Given the description of an element on the screen output the (x, y) to click on. 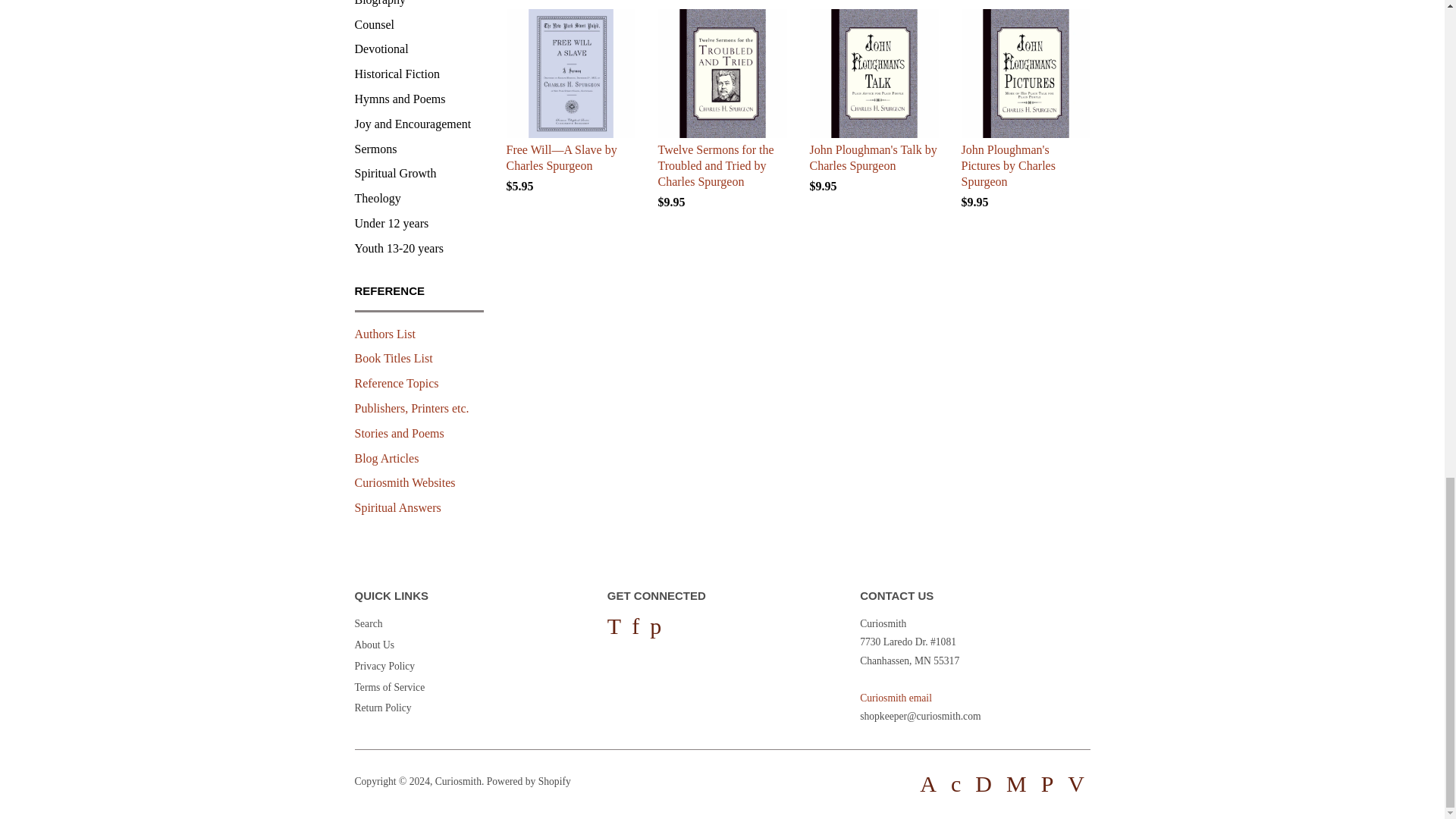
Curiosmith on Pinterest (655, 624)
Curiosmith Websites (405, 481)
Curiosmith on Twitter (614, 624)
Seeking Spiritual Answers (398, 507)
Blog Articles (387, 458)
Book Titles List (393, 358)
Authors List (384, 333)
Stories and Poetry (399, 432)
